Given the description of an element on the screen output the (x, y) to click on. 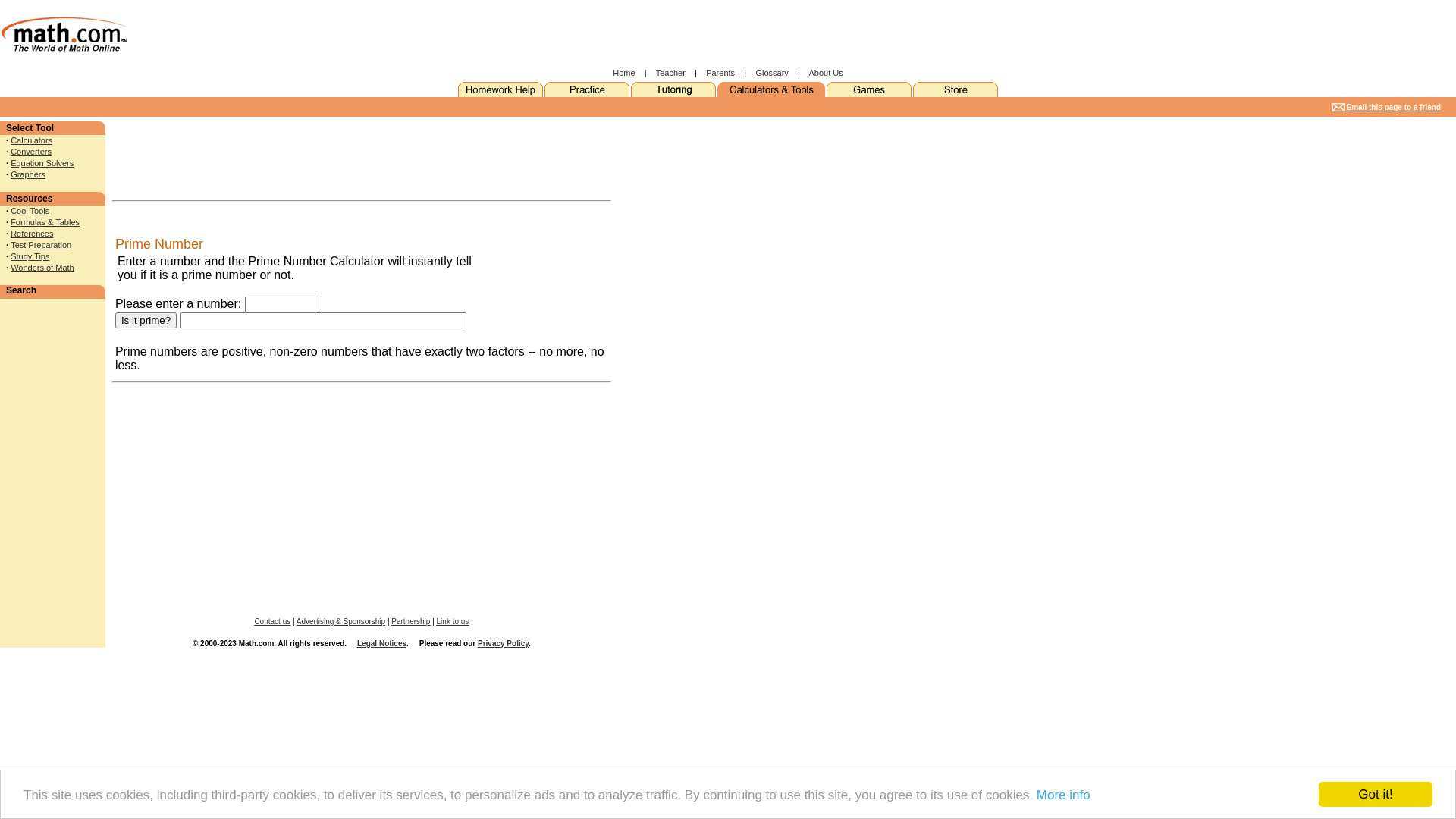
Home Element type: text (623, 72)
Contact us Element type: text (272, 621)
Cool Tools Element type: text (29, 210)
Advertising & Sponsorship Element type: text (340, 621)
Calculators Element type: text (31, 139)
Legal Notices Element type: text (381, 643)
Study Tips Element type: text (29, 255)
About Us Element type: text (825, 72)
Formulas & Tables Element type: text (44, 221)
Advertisement Element type: hover (182, 157)
Advertisement Element type: hover (431, 157)
Advertisement Element type: hover (51, 403)
Graphers Element type: text (27, 173)
Test Preparation Element type: text (40, 244)
Converters Element type: text (30, 151)
Privacy Policy Element type: text (502, 643)
Advertisement Element type: hover (678, 348)
Is it prime? Element type: text (145, 320)
Teacher Element type: text (670, 72)
Wonders of Math Element type: text (42, 267)
Advertisement Element type: hover (551, 34)
Advertisement Element type: hover (1137, 106)
Email this page to a friend Element type: text (1393, 104)
Link to us Element type: text (452, 621)
Parents Element type: text (720, 72)
Partnership Element type: text (410, 621)
More info Element type: text (1063, 794)
Equation Solvers Element type: text (41, 162)
Got it! Element type: text (1375, 793)
References Element type: text (31, 233)
Glossary Element type: text (771, 72)
